Given the description of an element on the screen output the (x, y) to click on. 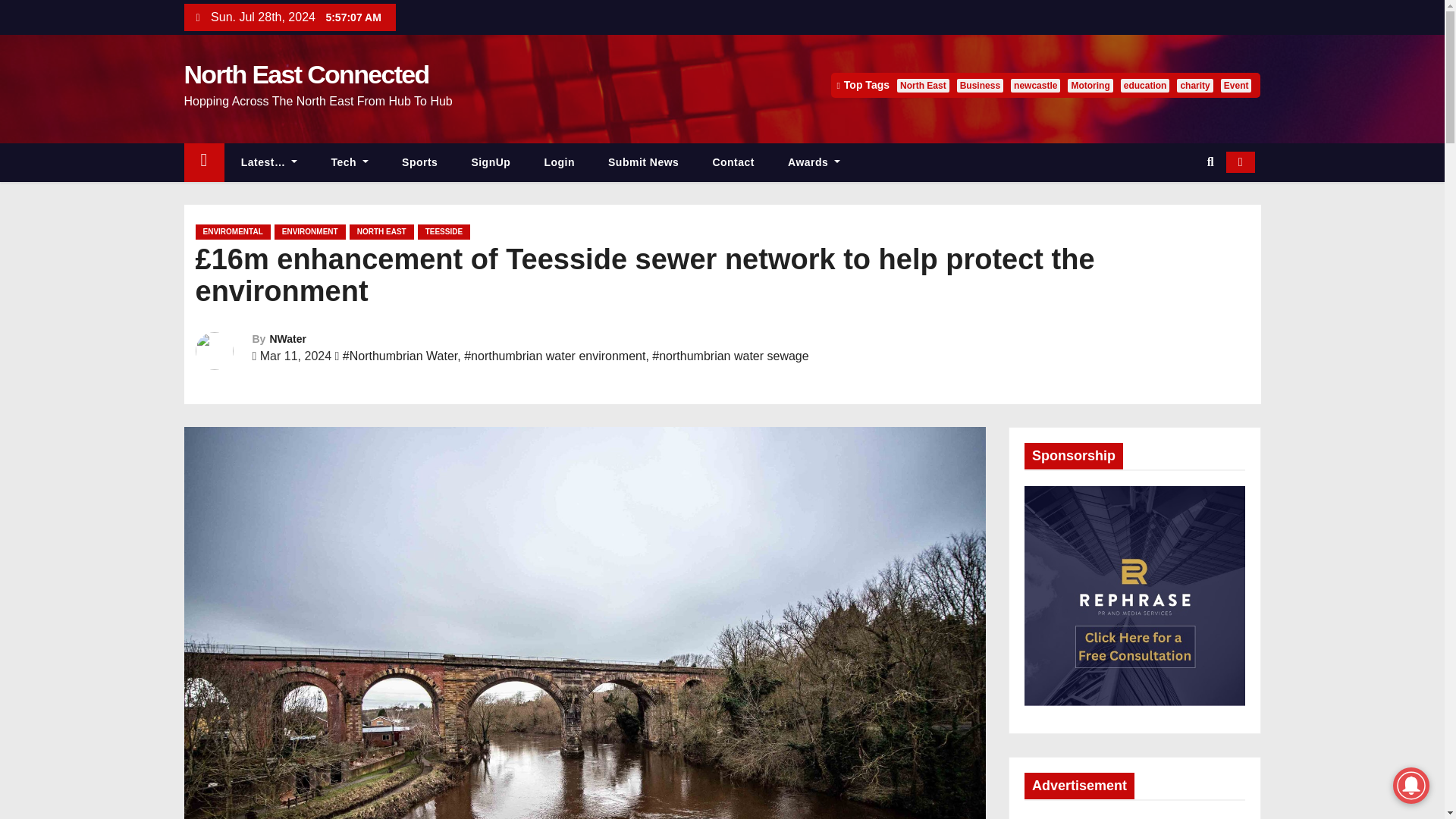
ENVIROMENTAL (232, 231)
ENVIRONMENT (310, 231)
Sports (419, 162)
Submit News (643, 162)
Awards (814, 162)
Event (1236, 85)
Motoring (1089, 85)
education (1145, 85)
NORTH EAST (381, 231)
Login (559, 162)
TEESSIDE (443, 231)
Sports (419, 162)
charity (1194, 85)
SignUp (490, 162)
newcastle (1034, 85)
